Given the description of an element on the screen output the (x, y) to click on. 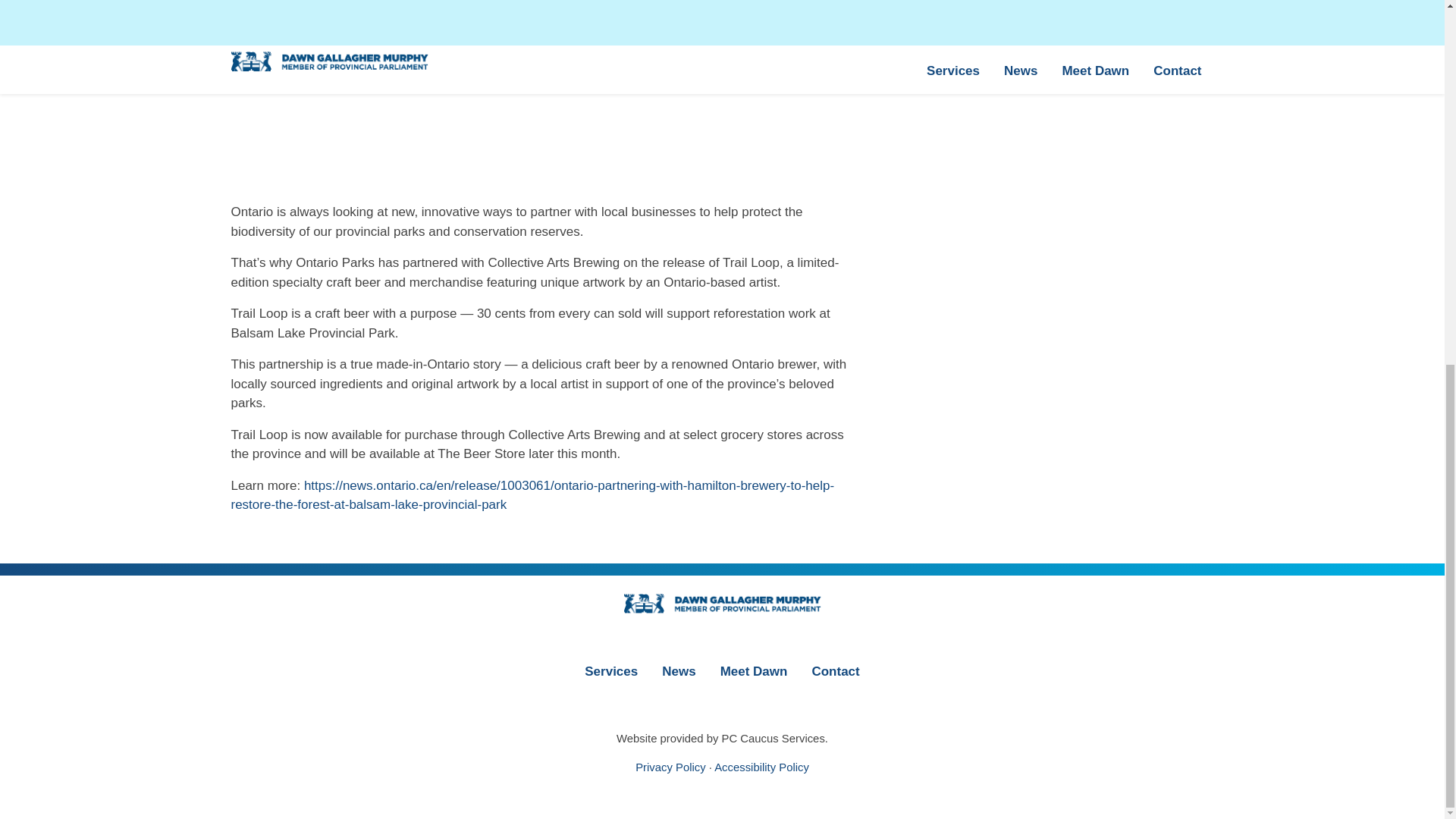
Meet Dawn (753, 670)
Services (610, 670)
Privacy Policy (669, 767)
Contact (834, 670)
News (678, 670)
Accessibility Policy (761, 767)
